Given the description of an element on the screen output the (x, y) to click on. 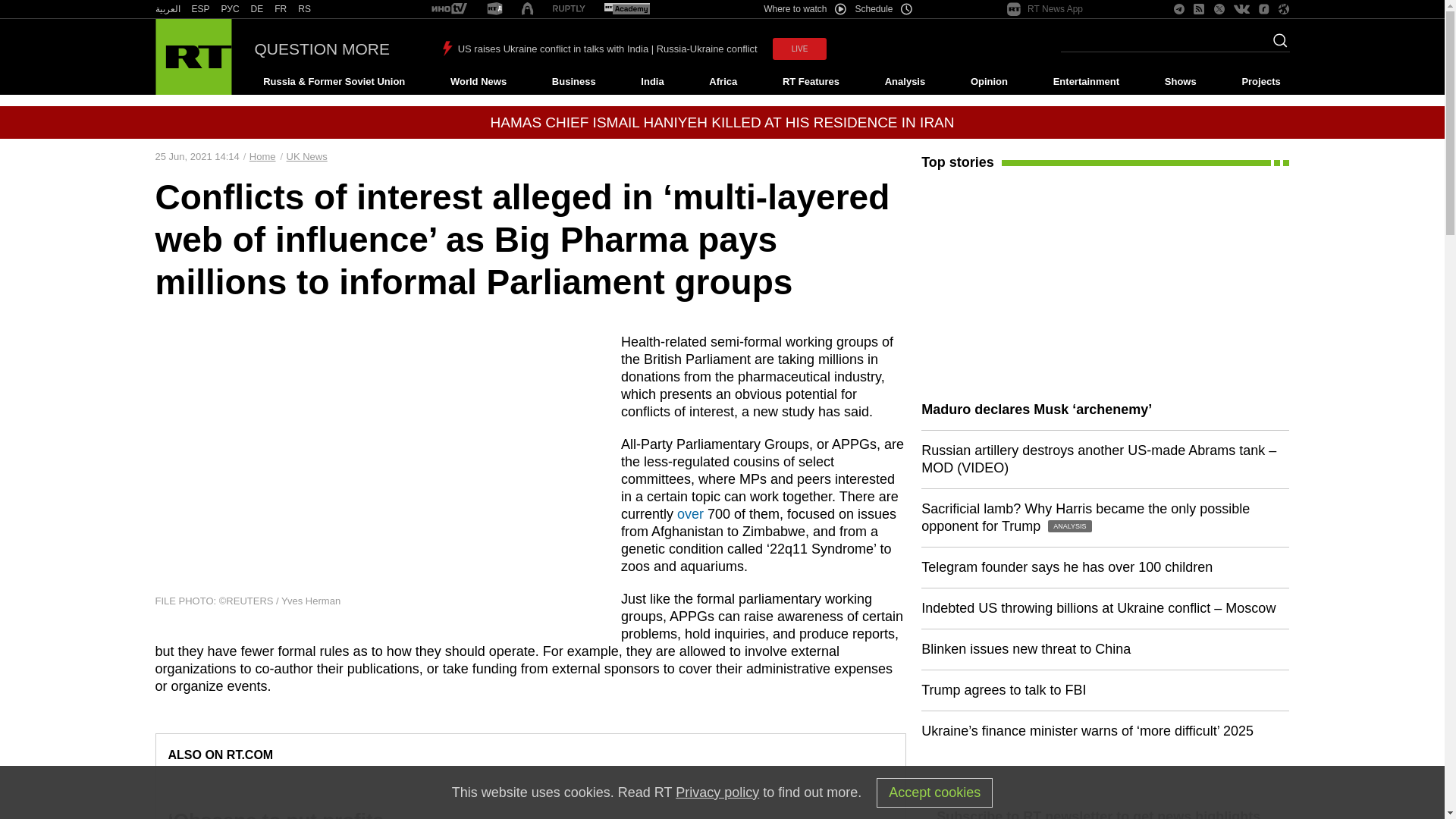
RT  (230, 9)
Projects (1261, 81)
ESP (199, 9)
Africa (722, 81)
RT  (448, 9)
Search (1276, 44)
Entertainment (1085, 81)
World News (478, 81)
RT  (199, 9)
RS (304, 9)
RT  (256, 9)
Where to watch (803, 9)
RT  (304, 9)
QUESTION MORE (322, 48)
DE (256, 9)
